Given the description of an element on the screen output the (x, y) to click on. 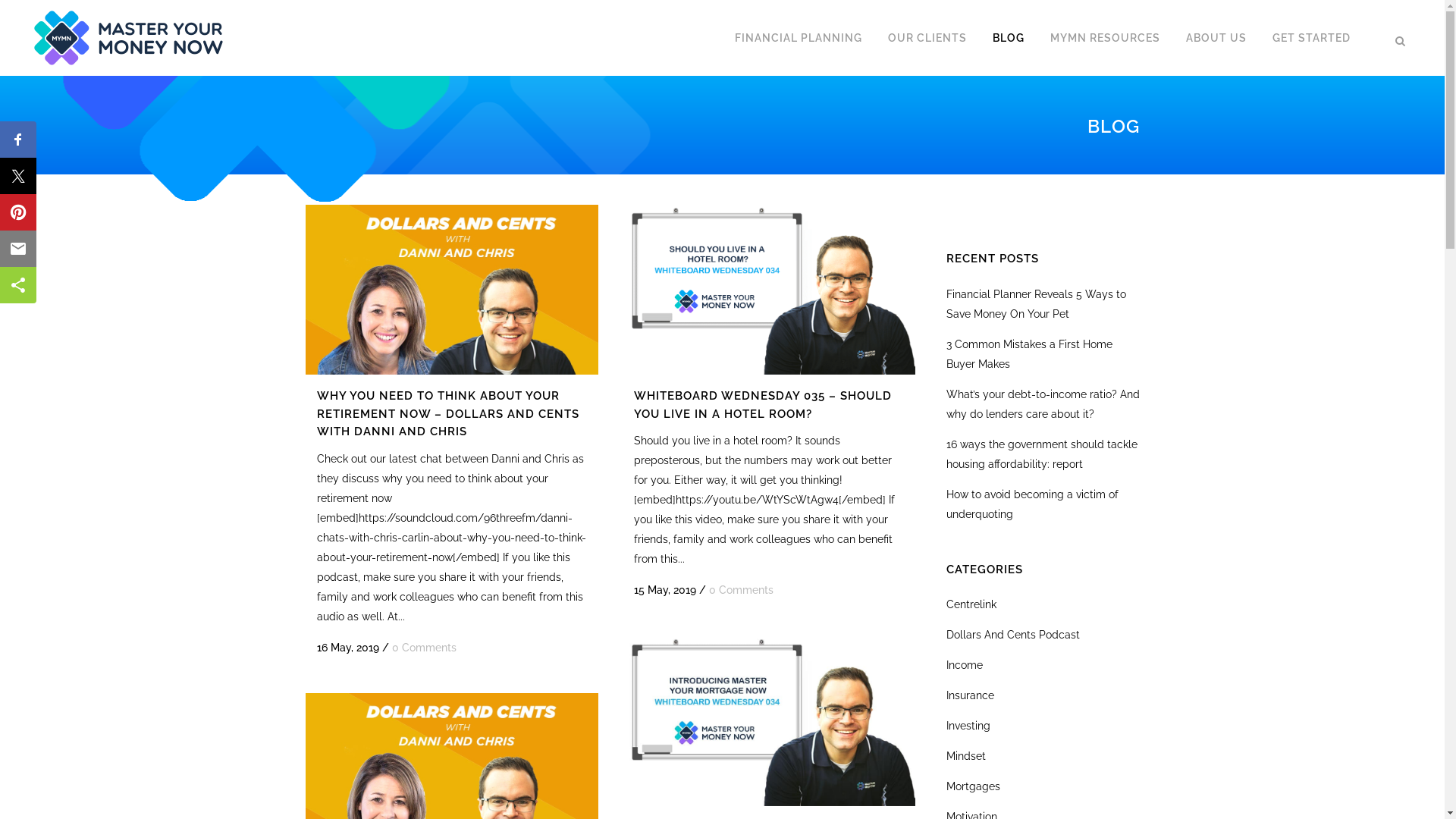
BLOG Element type: text (1008, 37)
3 Common Mistakes a First Home Buyer Makes Element type: text (1029, 354)
Mortgages Element type: text (973, 786)
Investing Element type: text (968, 725)
Income Element type: text (964, 664)
MYMN RESOURCES Element type: text (1105, 37)
Centrelink Element type: text (971, 604)
Dollars And Cents Podcast Element type: text (1012, 634)
Insurance Element type: text (970, 695)
Financial Planner Reveals 5 Ways to Save Money On Your Pet Element type: text (1036, 304)
FINANCIAL PLANNING Element type: text (798, 37)
How to avoid becoming a victim of underquoting Element type: text (1032, 504)
GET STARTED Element type: text (1311, 37)
OUR CLIENTS Element type: text (927, 37)
ABOUT US Element type: text (1216, 37)
0 Comments Element type: text (740, 589)
Mindset Element type: text (965, 755)
0 Comments Element type: text (423, 647)
